Given the description of an element on the screen output the (x, y) to click on. 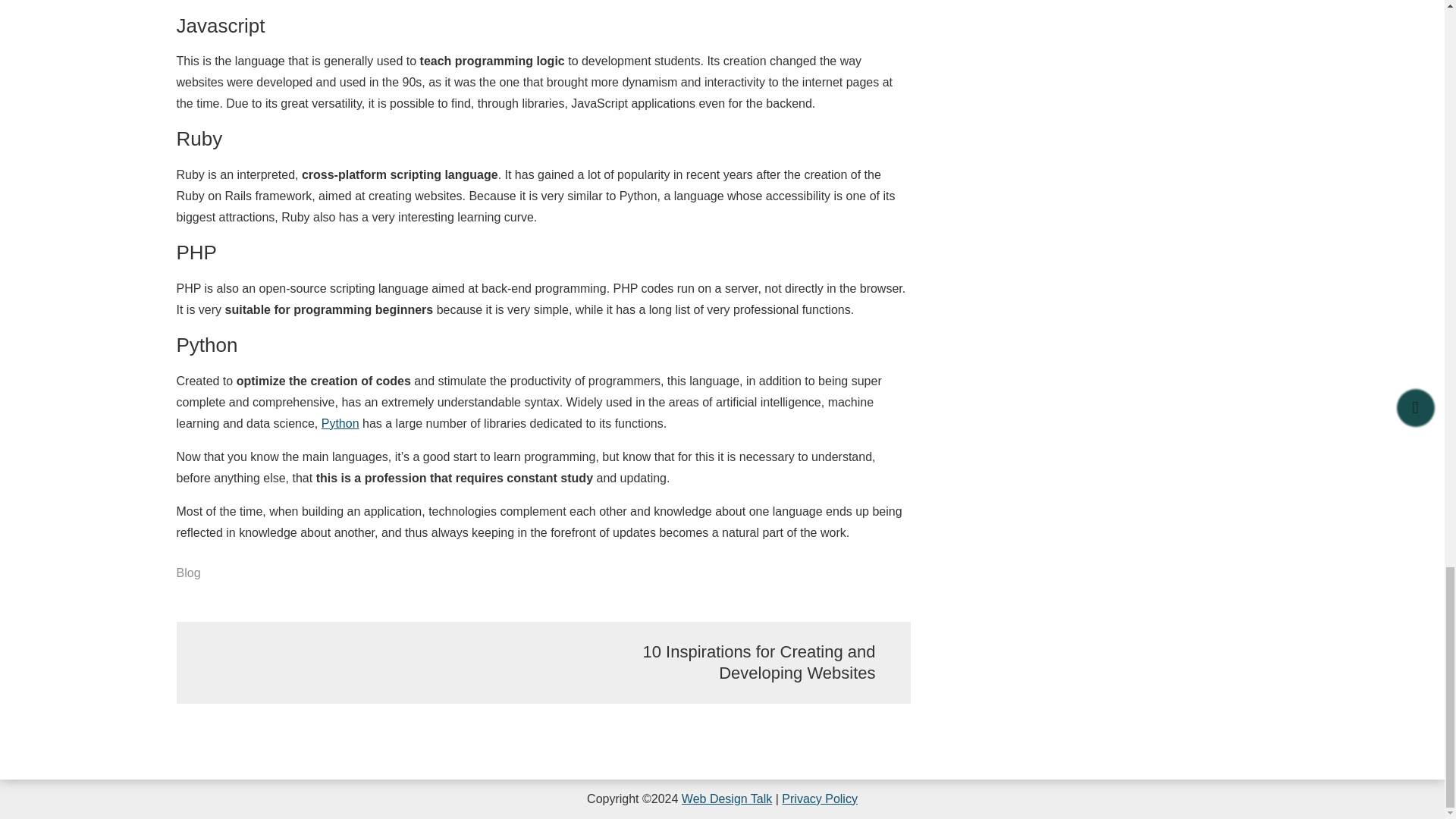
Python (340, 422)
Privacy Policy (819, 798)
Blog (188, 572)
Web Design Talk (726, 798)
